Given the description of an element on the screen output the (x, y) to click on. 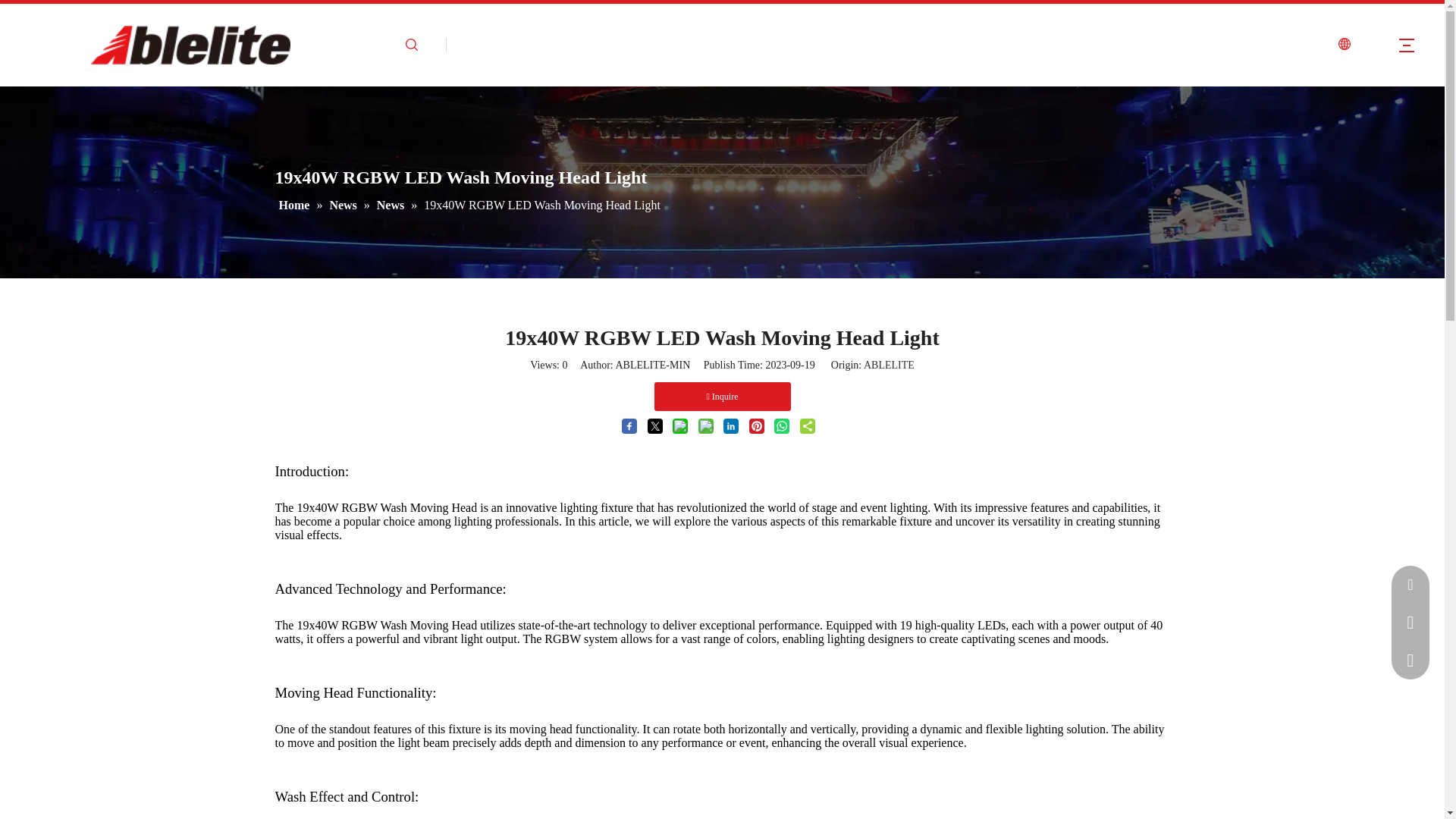
Inquire (721, 396)
ABLELITE (888, 365)
Home (296, 205)
News (392, 205)
News (344, 205)
